Given the description of an element on the screen output the (x, y) to click on. 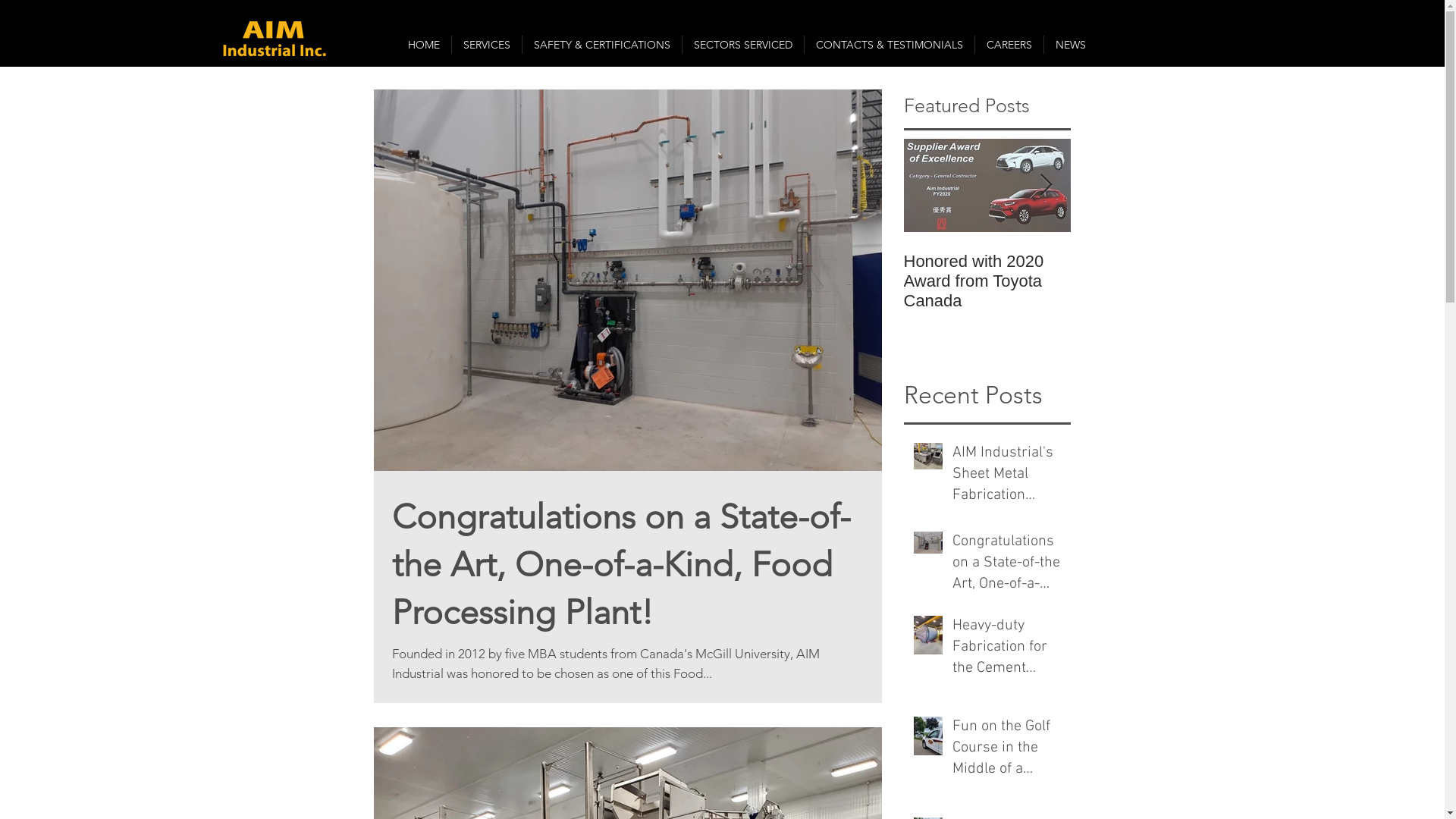
SECTORS SERVICED Element type: text (742, 44)
AIM Industrial's Sheet Metal Fabrication Group Going Strong! Element type: text (1006, 476)
NEWS Element type: text (1069, 44)
Fun on the Golf Course in the Middle of a Crazy-Busy Year! Element type: text (1006, 750)
SERVICES Element type: text (486, 44)
CONTACTS & TESTIMONIALS Element type: text (888, 44)
Heavy-duty Fabrication for the Cement Industry - Part 1 Element type: text (1006, 649)
Proactive Management: HVAC System Maintenance Element type: text (1320, 280)
AIM_noborder.png Element type: hover (274, 38)
Honored with 2020 Award from Toyota Canada Element type: text (986, 280)
SAFETY & CERTIFICATIONS Element type: text (600, 44)
Machinery Moving & Plant Relocation Services Element type: text (1153, 280)
HOME Element type: text (422, 44)
CAREERS Element type: text (1009, 44)
